Given the description of an element on the screen output the (x, y) to click on. 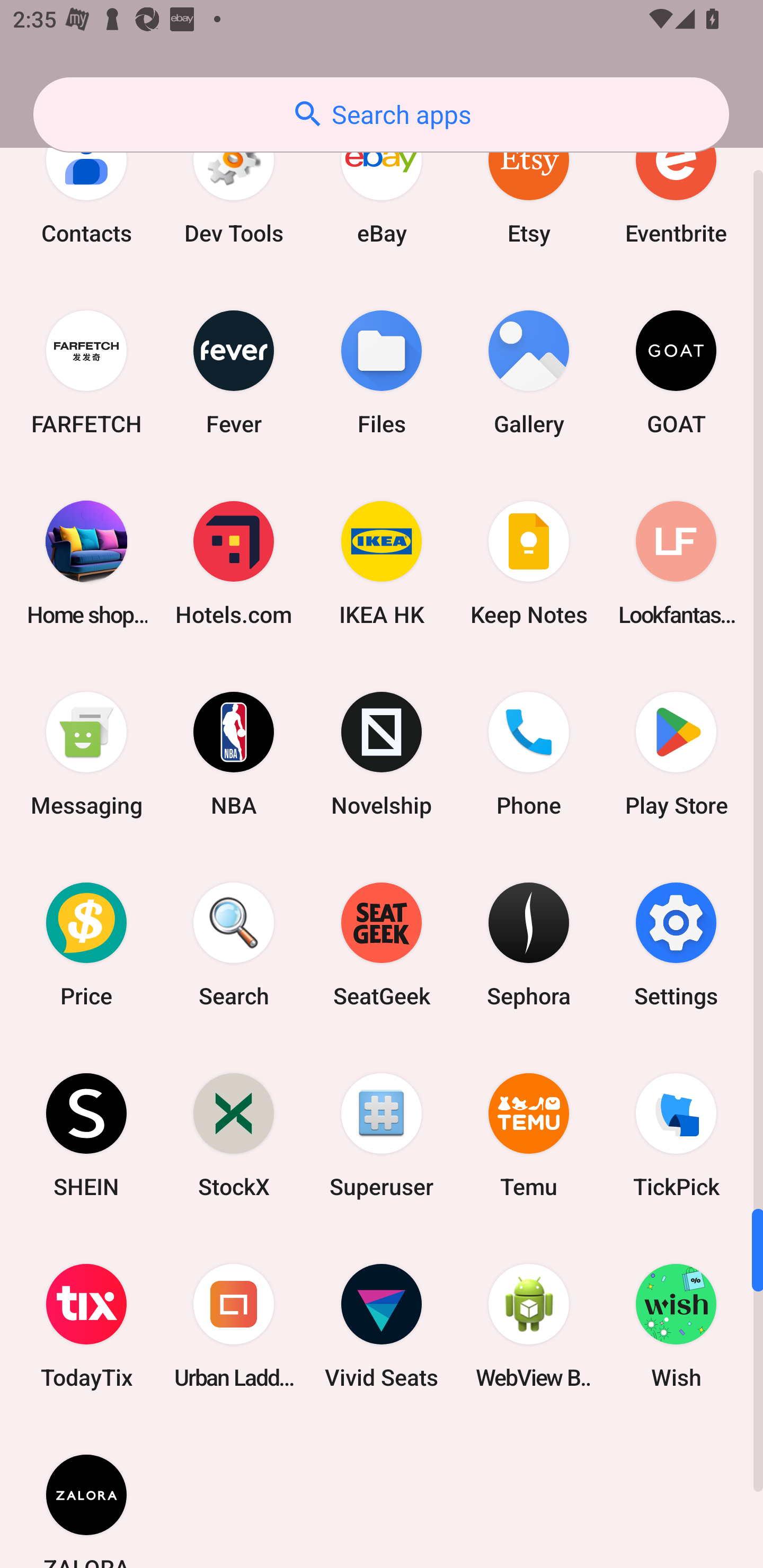
  Search apps (381, 114)
Contacts (86, 183)
Dev Tools (233, 183)
eBay (381, 183)
Etsy (528, 183)
Eventbrite (676, 183)
FARFETCH (86, 372)
Fever (233, 372)
Files (381, 372)
Gallery (528, 372)
GOAT (676, 372)
Home shopping (86, 562)
Hotels.com (233, 562)
IKEA HK (381, 562)
Keep Notes (528, 562)
Lookfantastic (676, 562)
Messaging (86, 753)
NBA (233, 753)
Novelship (381, 753)
Phone (528, 753)
Play Store (676, 753)
Price (86, 944)
Search (233, 944)
SeatGeek (381, 944)
Sephora (528, 944)
Settings (676, 944)
SHEIN (86, 1134)
StockX (233, 1134)
Superuser (381, 1134)
Temu (528, 1134)
TickPick (676, 1134)
TodayTix (86, 1325)
Urban Ladder (233, 1325)
Vivid Seats (381, 1325)
WebView Browser Tester (528, 1325)
Wish (676, 1325)
ZALORA (86, 1494)
